Given the description of an element on the screen output the (x, y) to click on. 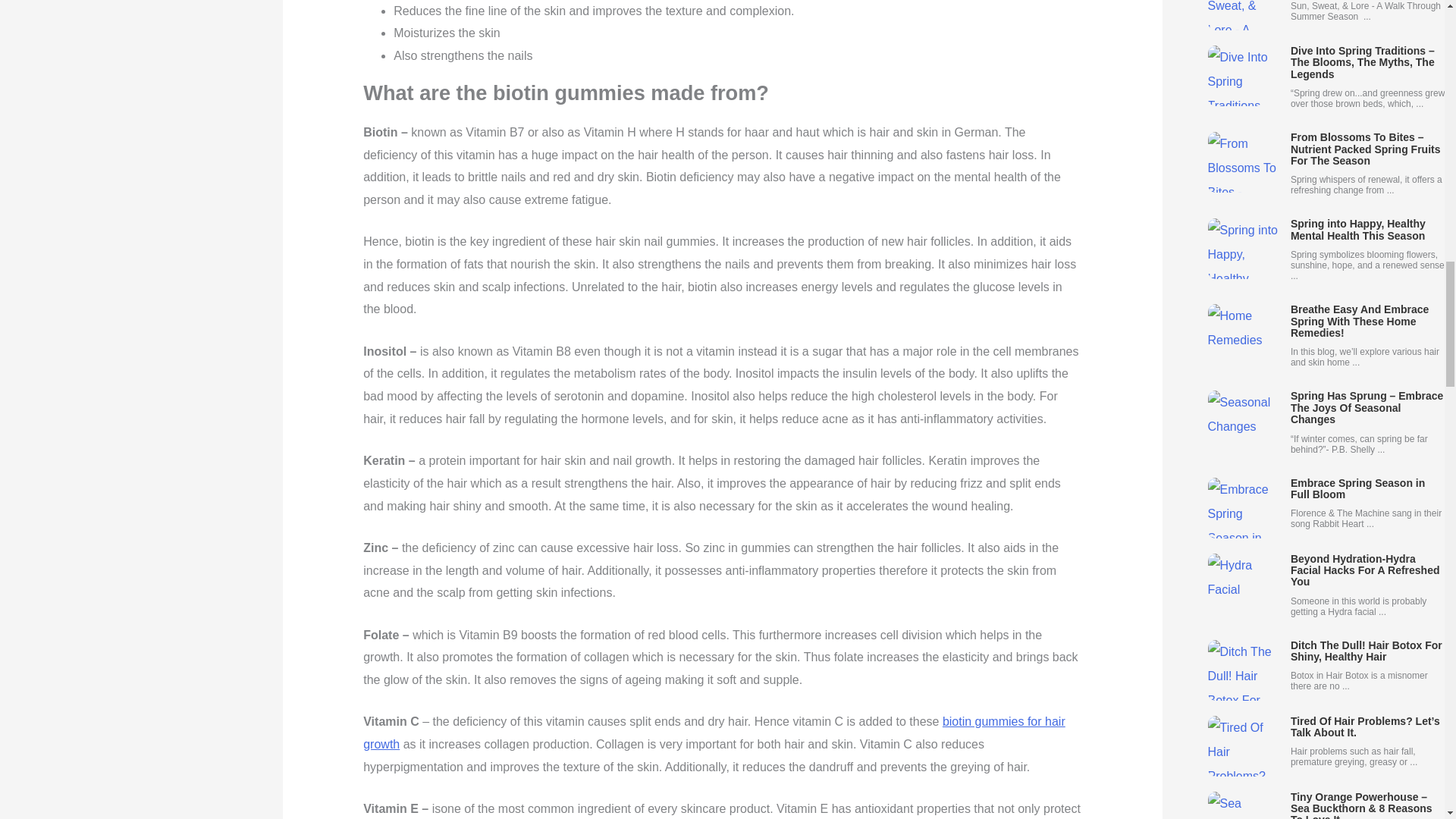
biotin gummies for hair growth (713, 732)
